Given the description of an element on the screen output the (x, y) to click on. 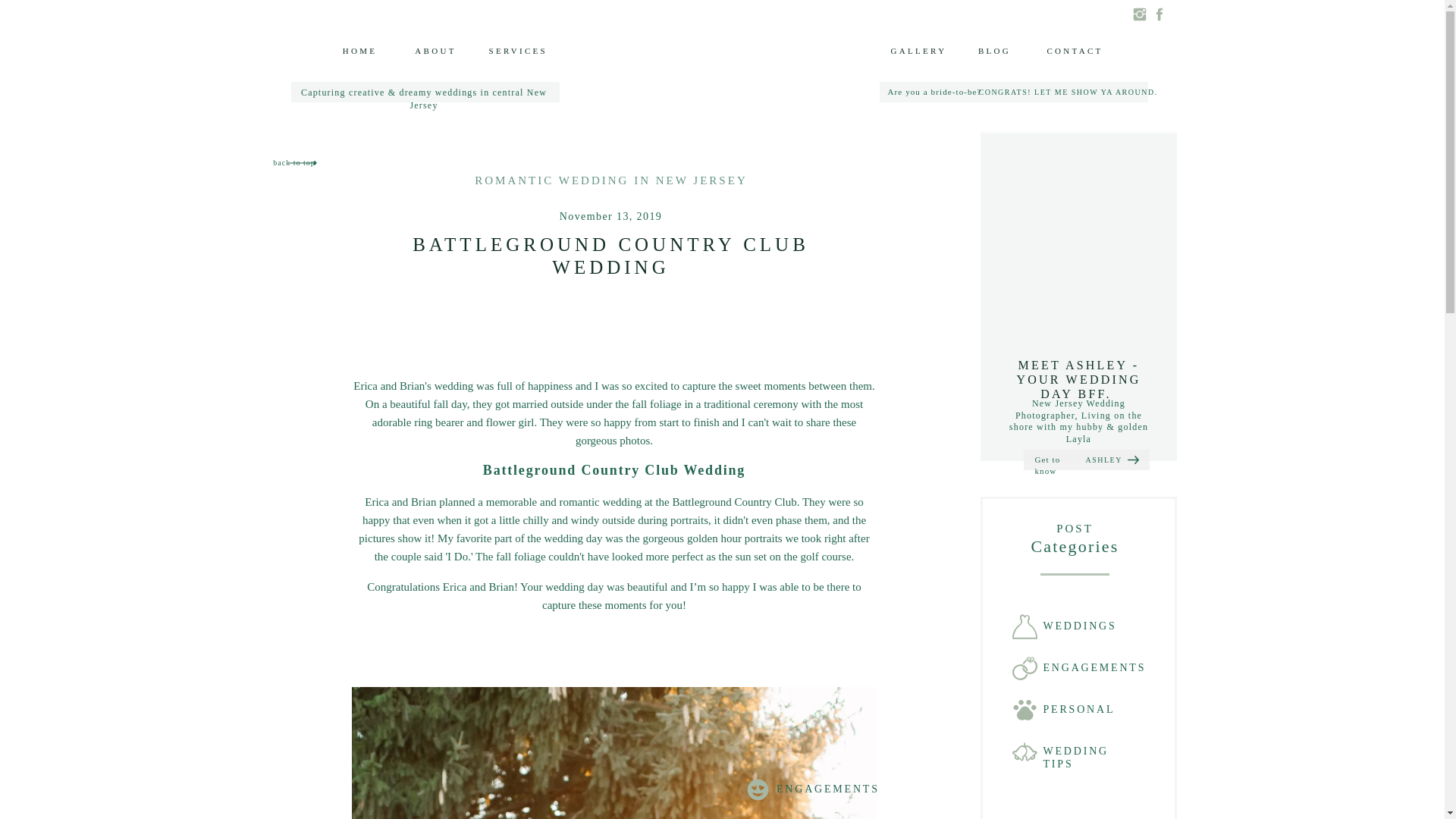
GALLERY (917, 51)
SERVICES (517, 51)
ASHLEY (1103, 459)
BLOG (994, 51)
ABOUT (435, 51)
HOME (358, 51)
PERSONAL (1082, 710)
ENGAGEMENTS (1092, 668)
CONTACT (1075, 51)
WEDDINGS (1082, 626)
